Given the description of an element on the screen output the (x, y) to click on. 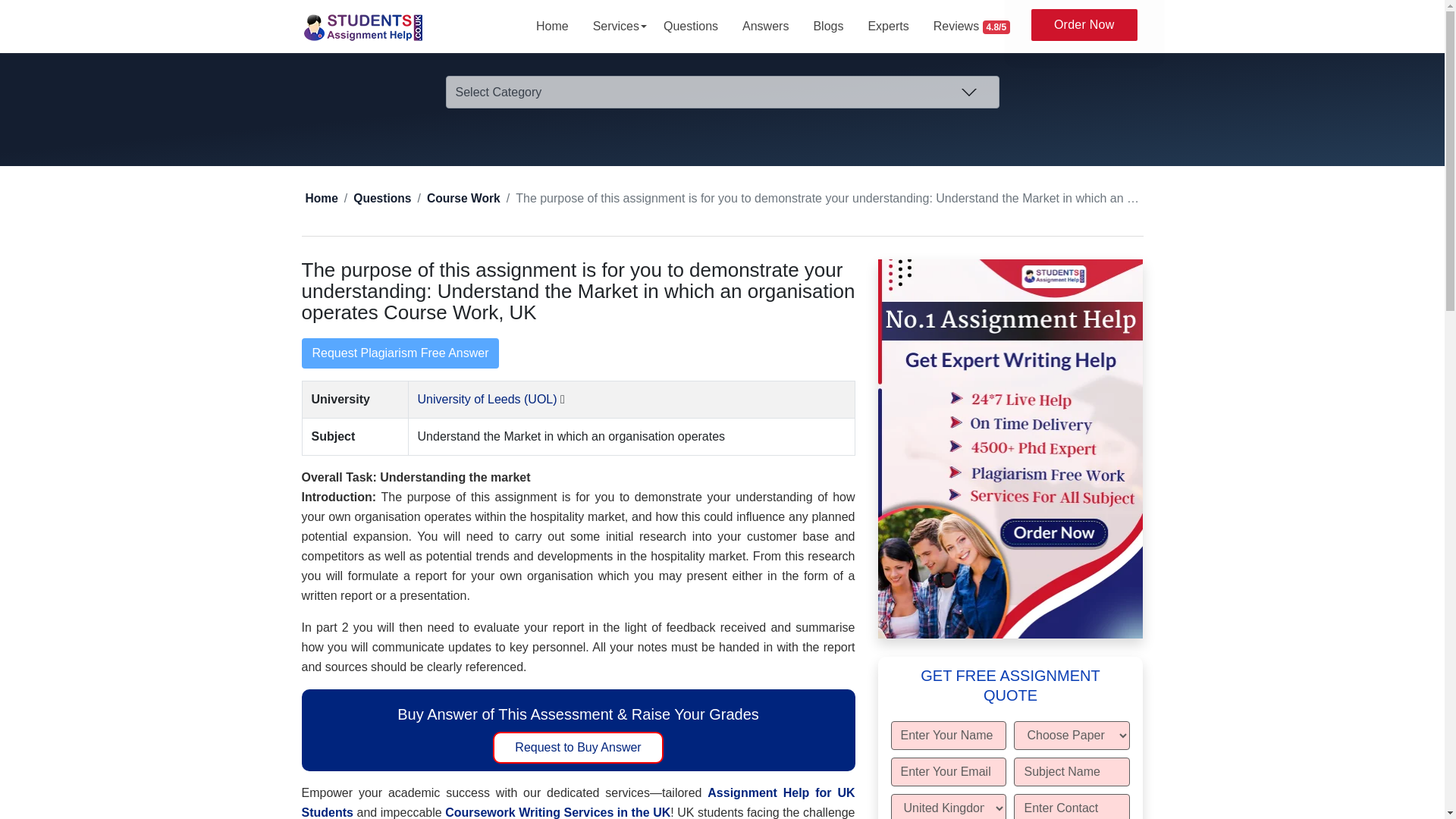
Questions (690, 26)
Services (615, 26)
Services (615, 26)
Home (552, 26)
